Given the description of an element on the screen output the (x, y) to click on. 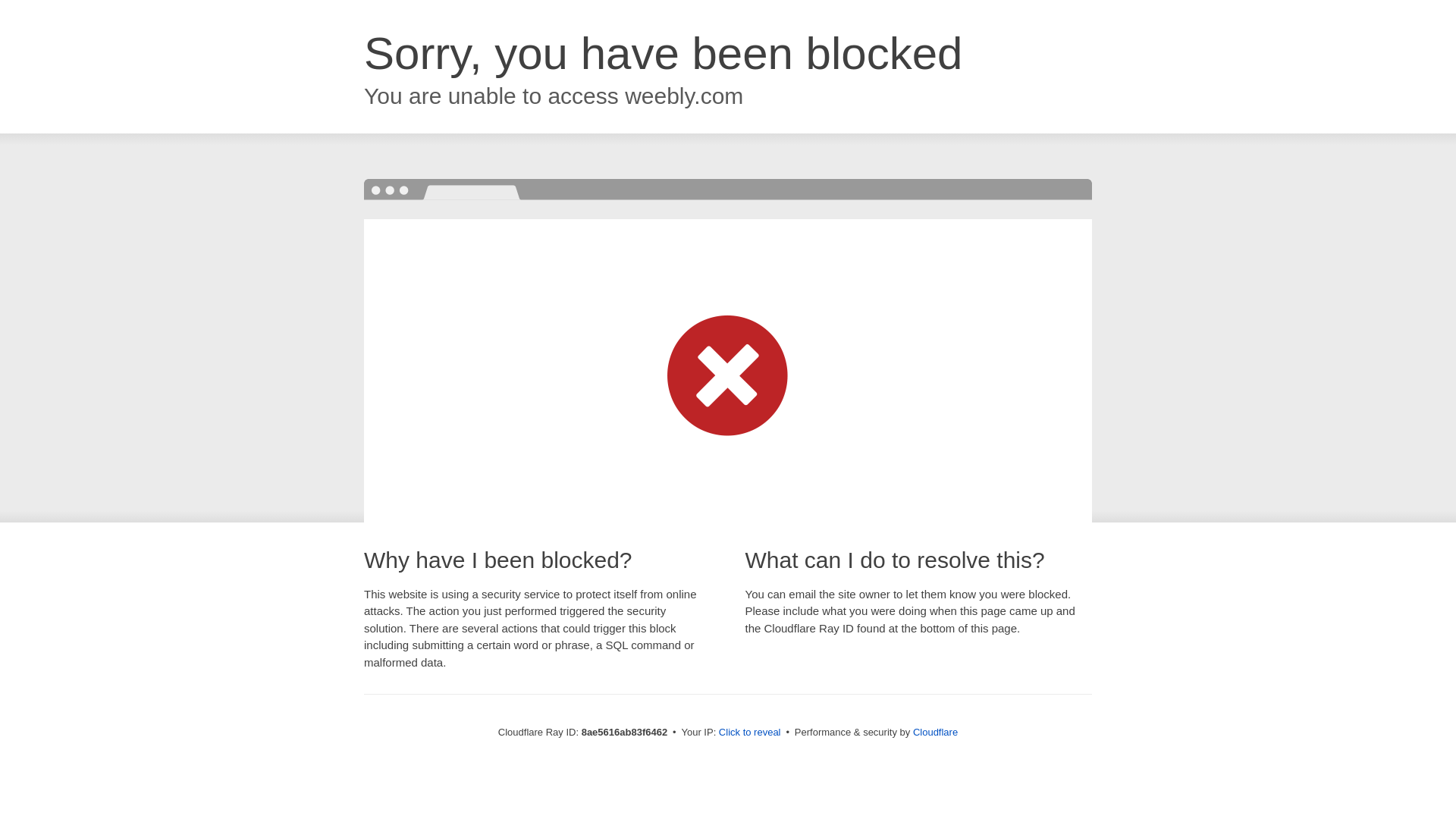
Click to reveal (749, 732)
Cloudflare (935, 731)
